Given the description of an element on the screen output the (x, y) to click on. 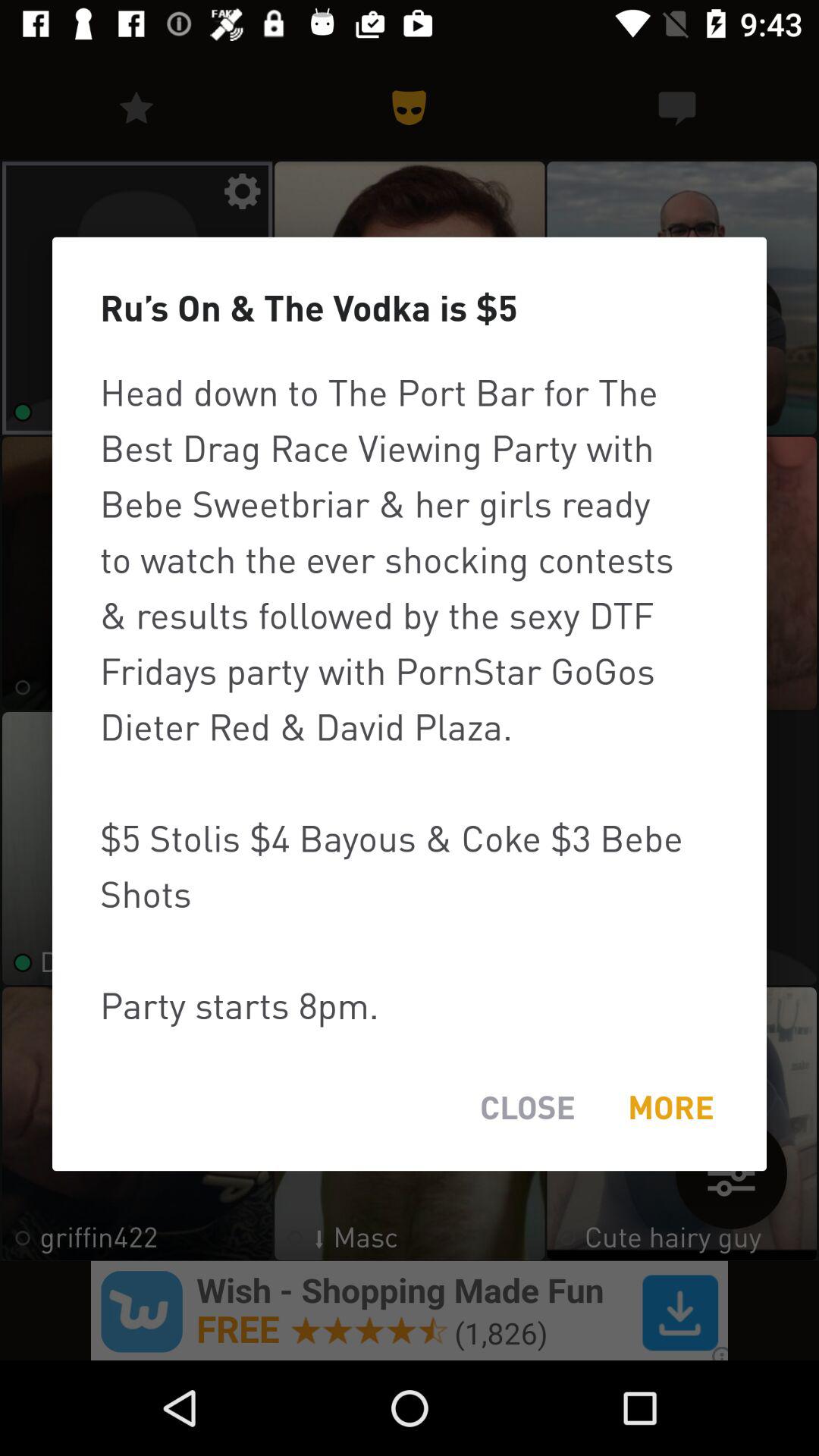
open item next to close (670, 1107)
